Given the description of an element on the screen output the (x, y) to click on. 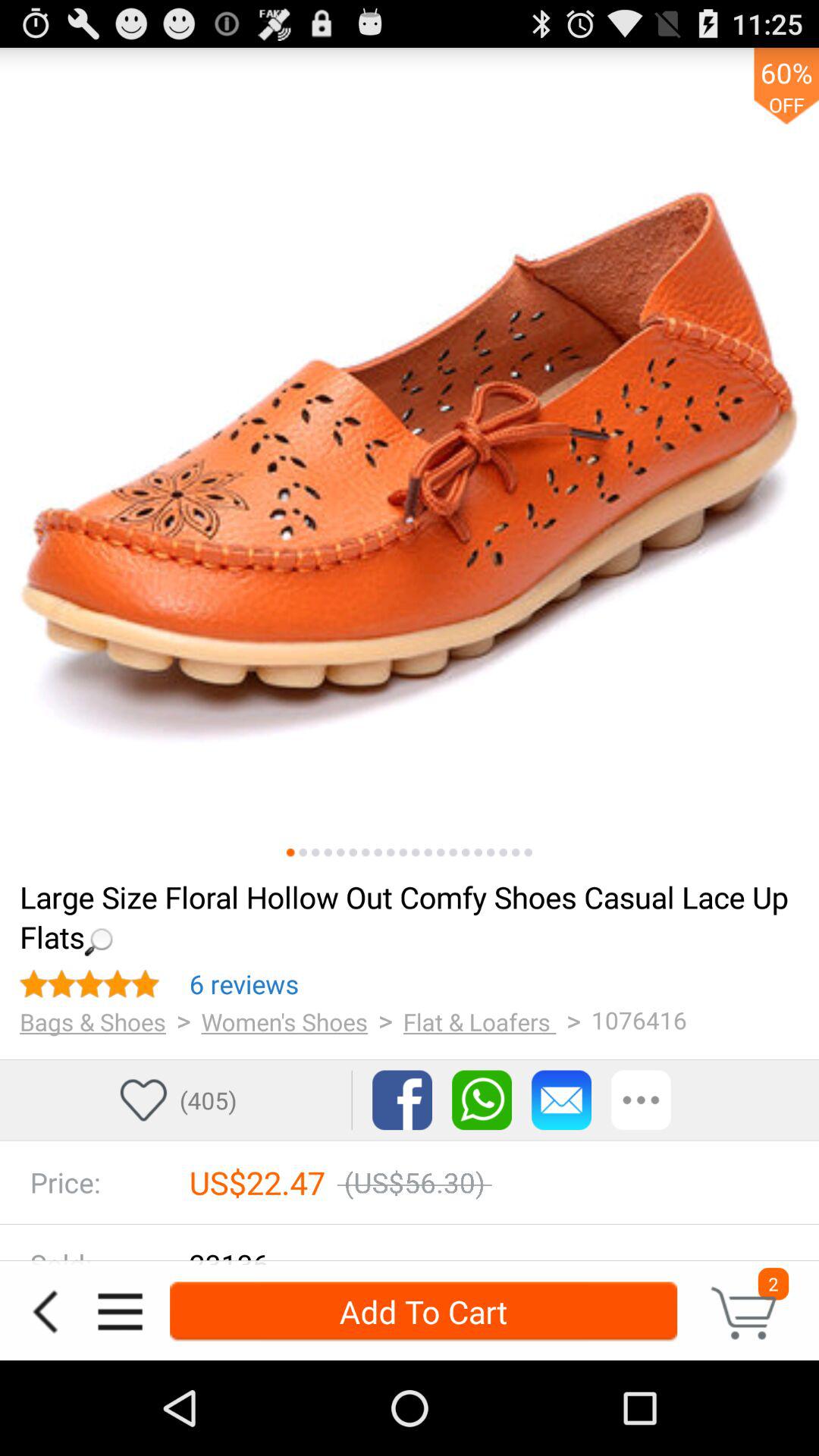
turn on the 6 reviews app (244, 983)
